Given the description of an element on the screen output the (x, y) to click on. 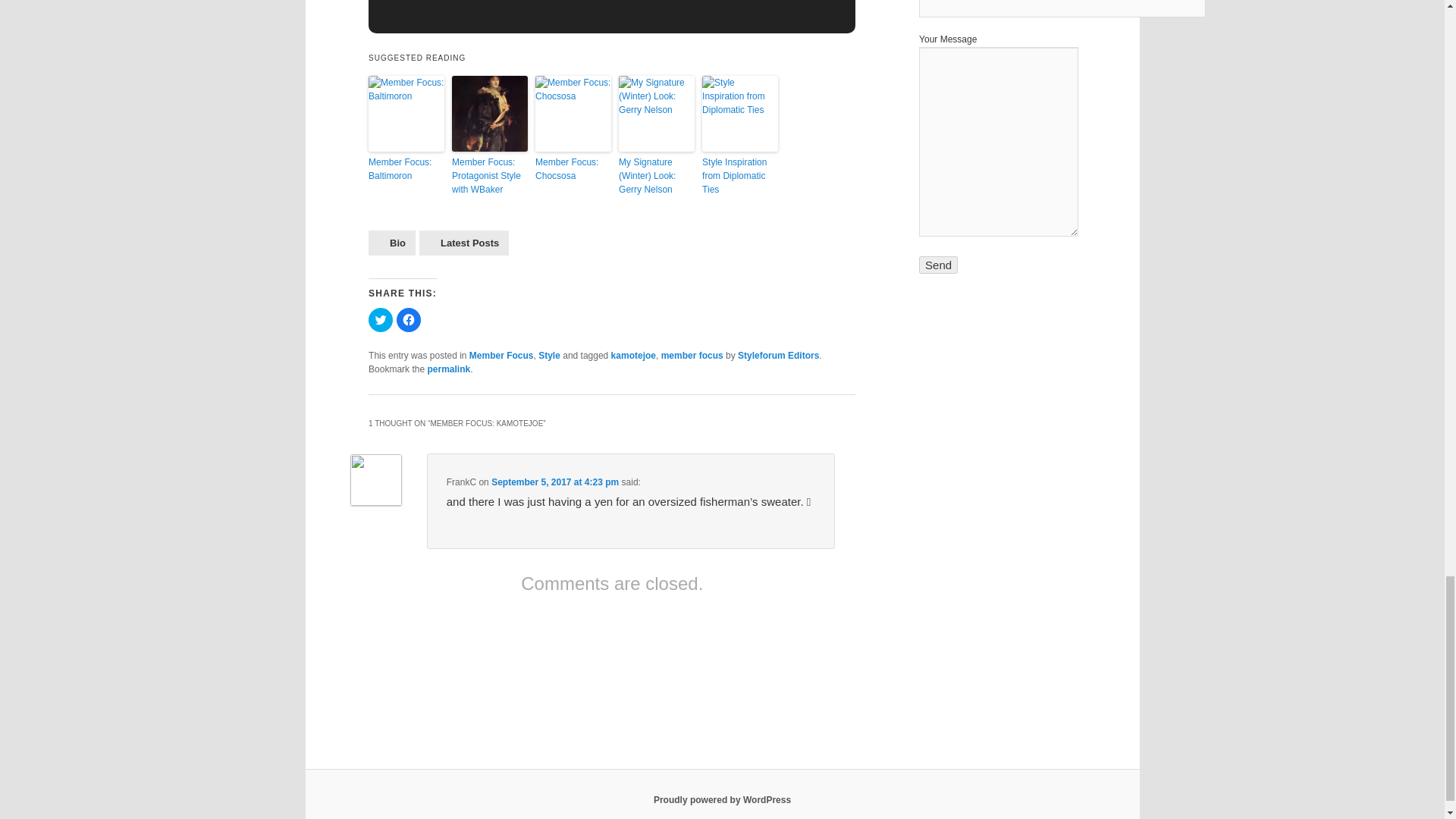
Send (938, 264)
Member Focus: Protagonist Style with WBaker (489, 175)
Click to share on Twitter (380, 319)
Semantic Personal Publishing Platform (721, 799)
Member Focus: Baltimoron (406, 168)
Click to share on Facebook (408, 319)
Permalink to Member Focus: KamoteJoe (448, 368)
